Given the description of an element on the screen output the (x, y) to click on. 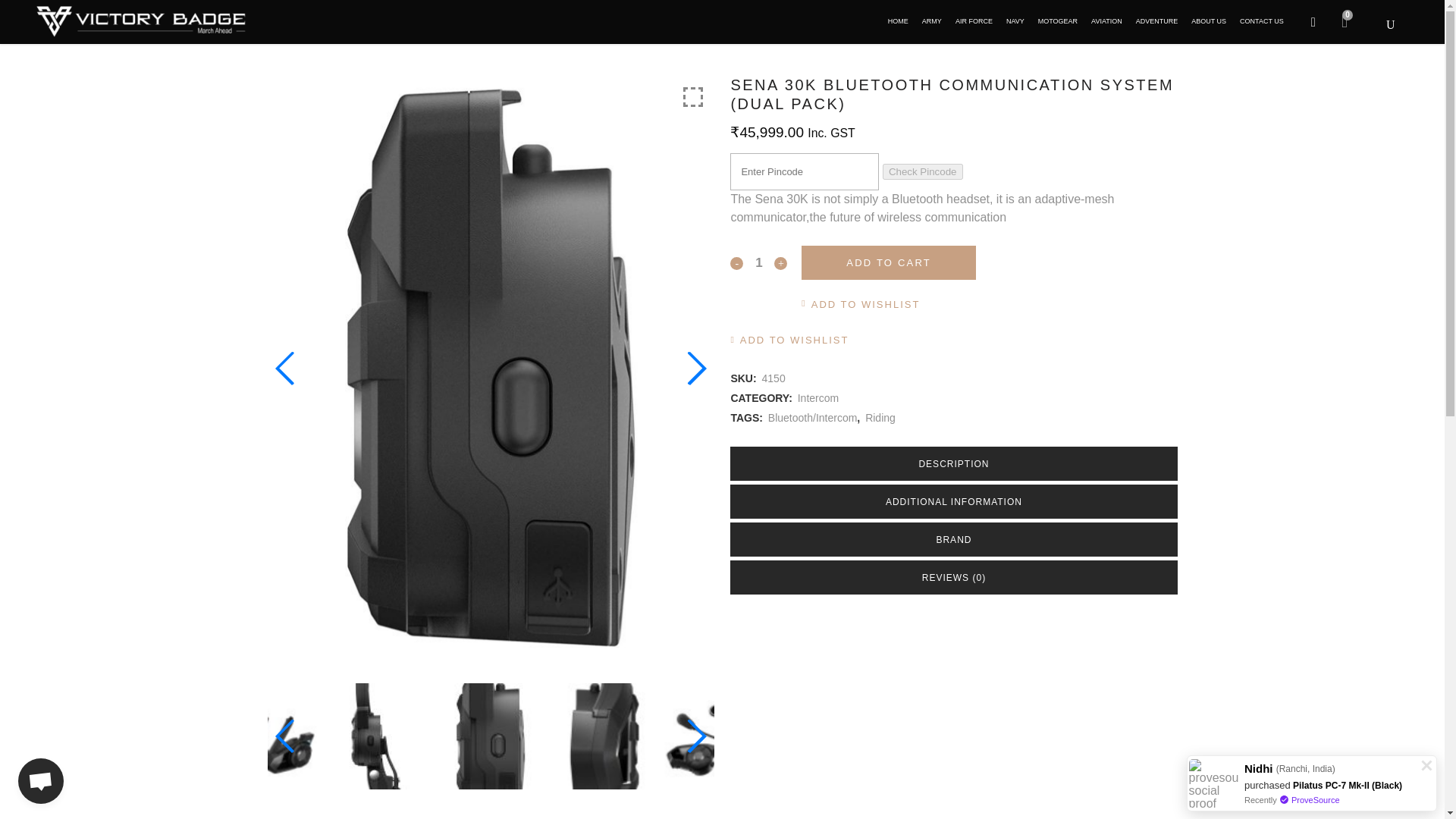
NAVY (1014, 21)
0 (1344, 21)
HOME (897, 21)
Check Pincode (922, 171)
Riding (879, 417)
ADD TO WISHLIST (789, 340)
CONTACT US (1261, 21)
ADVENTURE (1157, 21)
ABOUT US (1209, 21)
ADD TO WISHLIST (861, 304)
1 (758, 263)
MOTOGEAR (1057, 21)
ARMY (932, 21)
Intercom (817, 398)
- (736, 263)
